Given the description of an element on the screen output the (x, y) to click on. 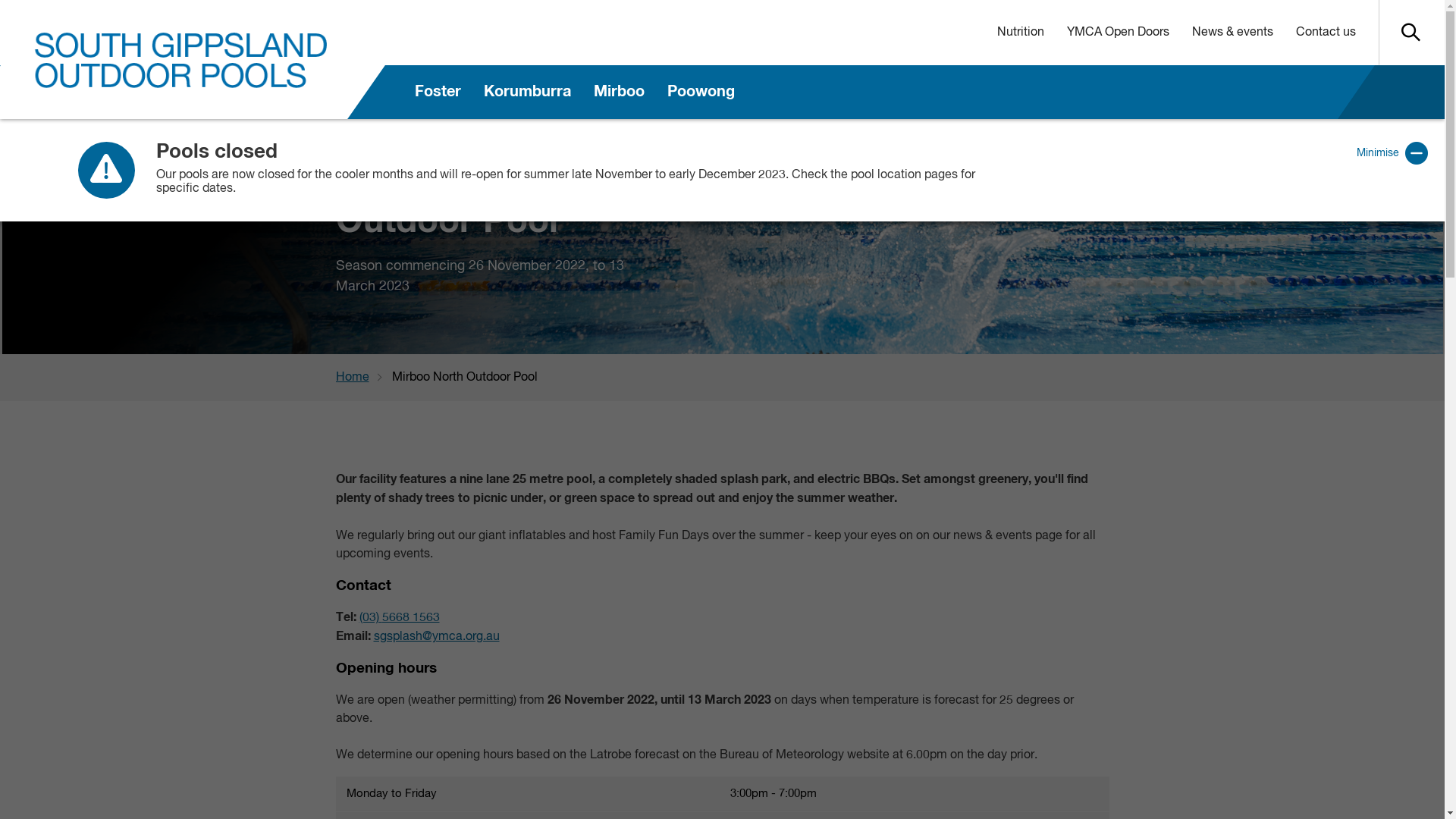
sgsplash@ymca.org.au Element type: text (435, 636)
Korumburra Element type: text (527, 92)
Poowong Element type: text (700, 92)
Foster Element type: text (437, 92)
News & events Element type: text (1231, 32)
5668 1563 Element type: text (410, 617)
Home Element type: text (363, 377)
Mirboo Element type: text (618, 92)
Contact us Element type: text (1325, 32)
(03)  Element type: text (370, 617)
YMCA Open Doors Element type: text (1117, 32)
Nutrition Element type: text (1020, 32)
